Given the description of an element on the screen output the (x, y) to click on. 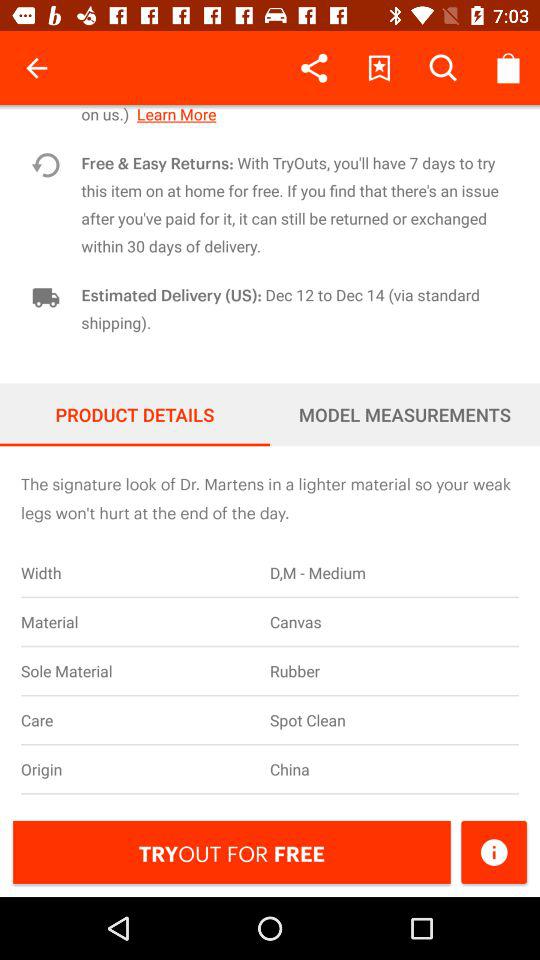
click item above the how tryouts work item (507, 67)
